Given the description of an element on the screen output the (x, y) to click on. 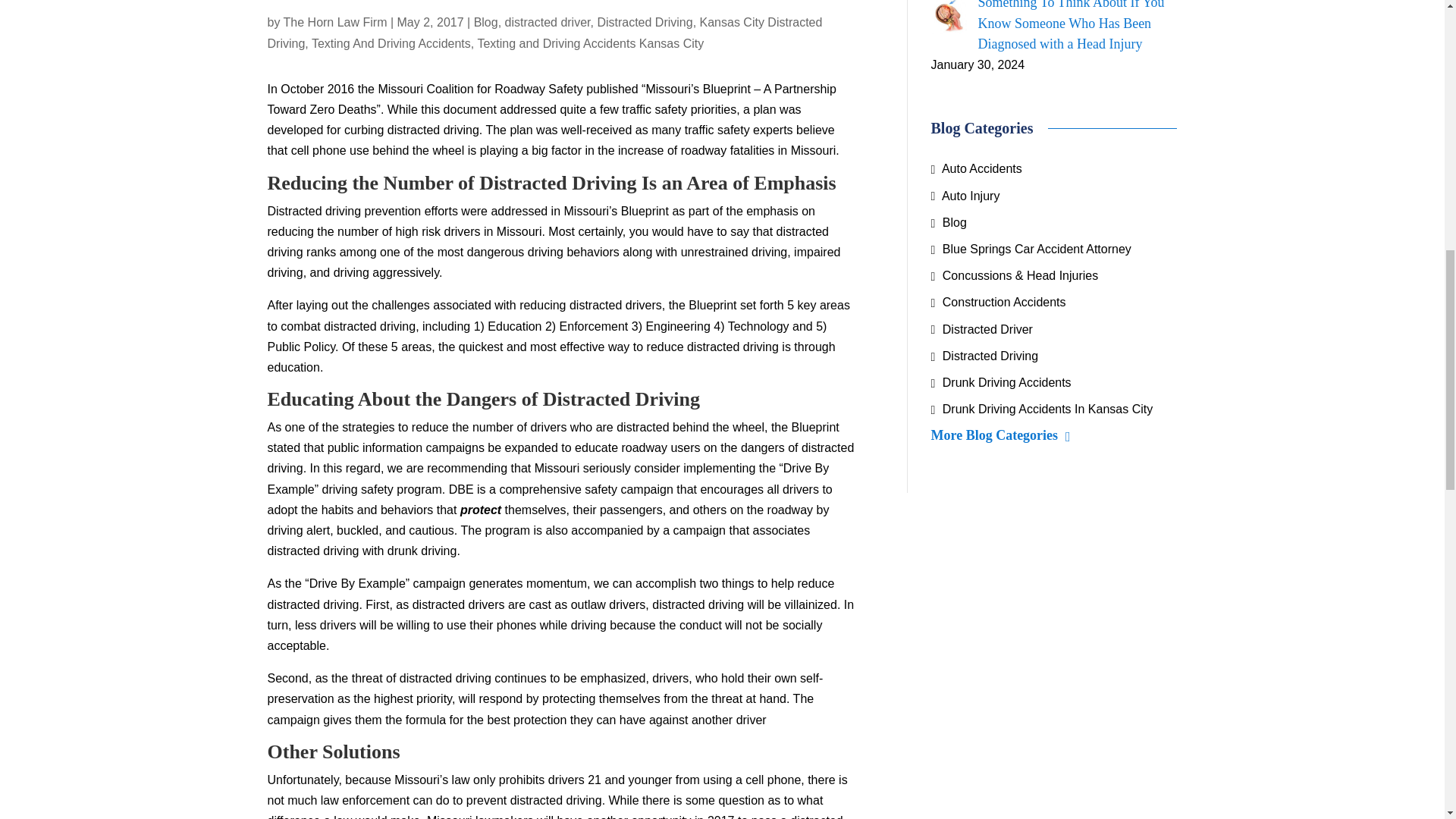
Posts by The Horn Law Firm (335, 21)
